Given the description of an element on the screen output the (x, y) to click on. 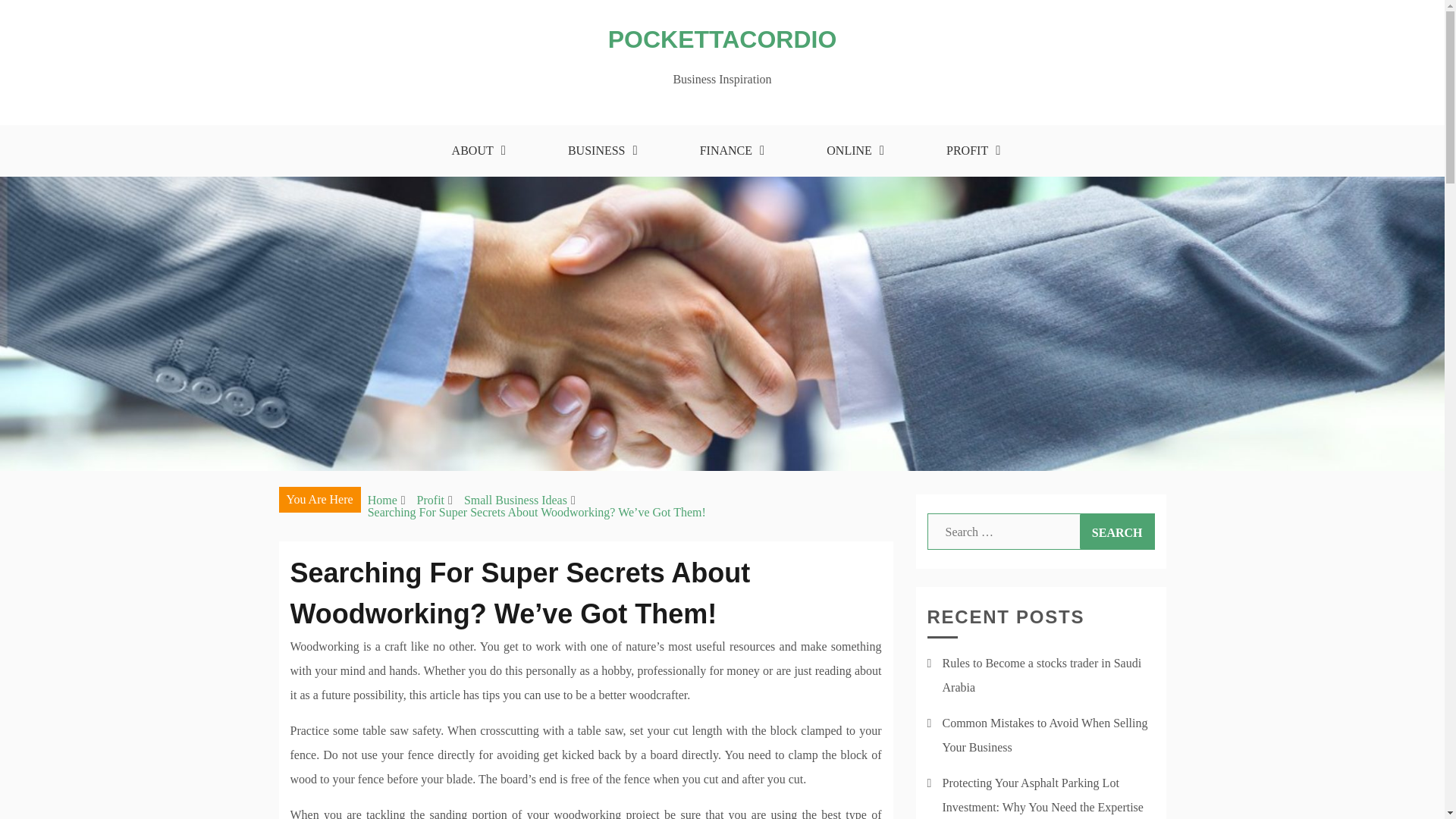
ONLINE (851, 150)
Small Business Ideas (515, 499)
FINANCE (728, 150)
POCKETTACORDIO (722, 39)
PROFIT (968, 150)
Home (382, 499)
Search (1117, 531)
Profit (430, 499)
Search (1117, 531)
BUSINESS (598, 150)
